Given the description of an element on the screen output the (x, y) to click on. 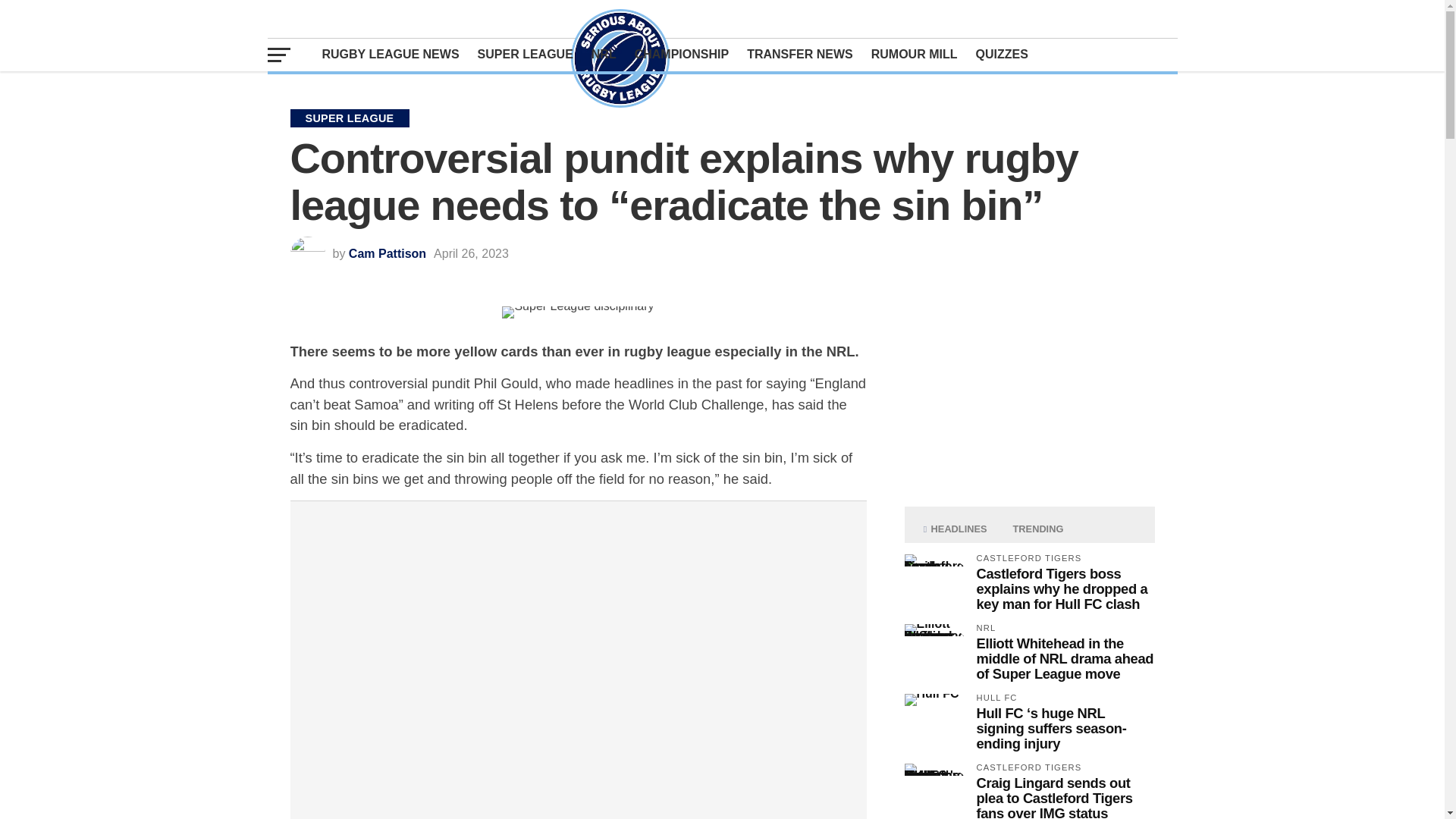
TRANSFER NEWS (799, 54)
SUPER LEAGUE (525, 54)
CHAMPIONSHIP (682, 54)
Posts by Cam Pattison (387, 253)
RUGBY LEAGUE NEWS (390, 54)
NRL (604, 54)
